Given the description of an element on the screen output the (x, y) to click on. 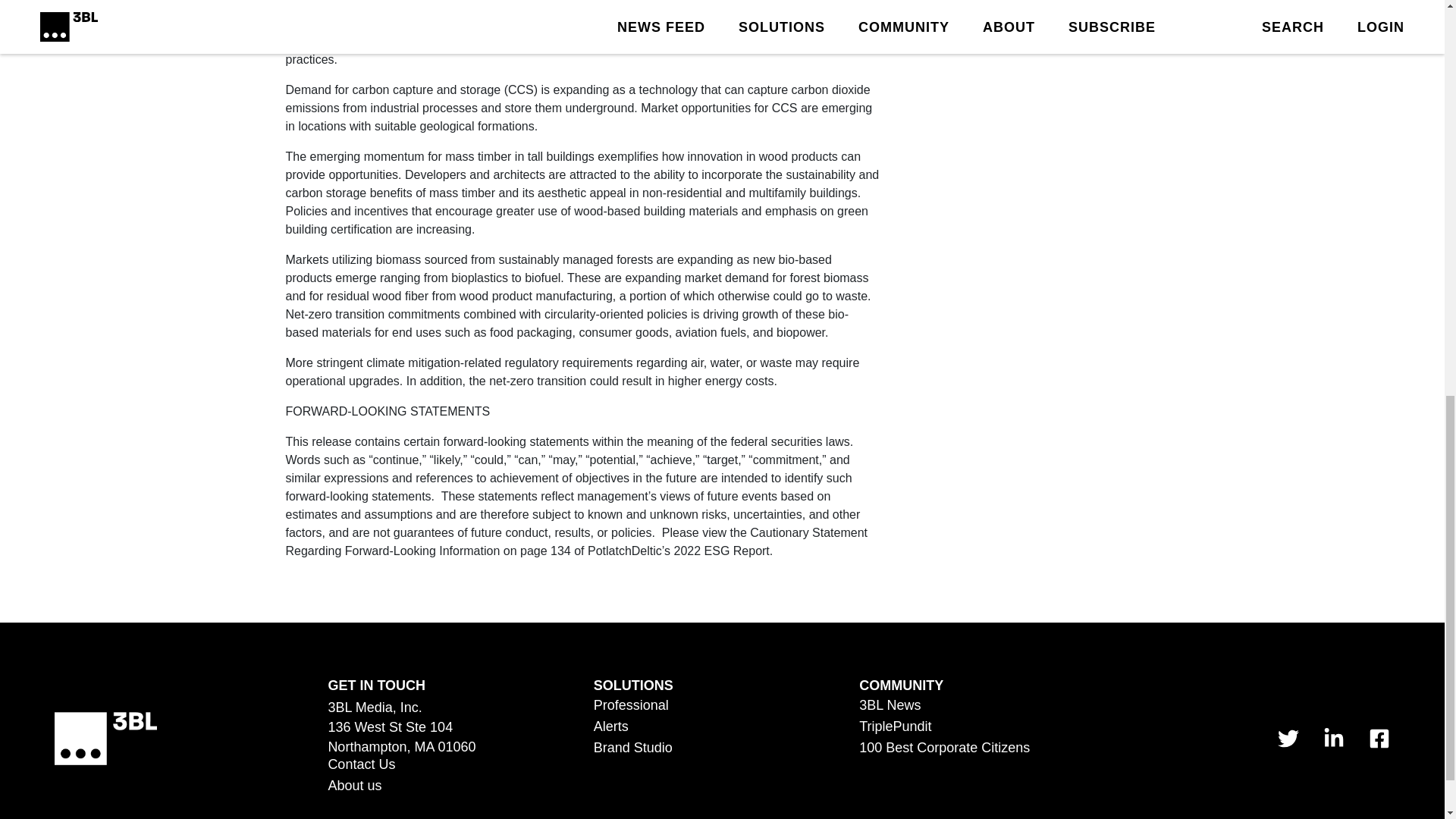
link to 3 B L Media's Facebook (1379, 738)
link to 3 B L Media's Twitter (1288, 738)
link to 3 B L Media's Linkedin (1333, 738)
